Given the description of an element on the screen output the (x, y) to click on. 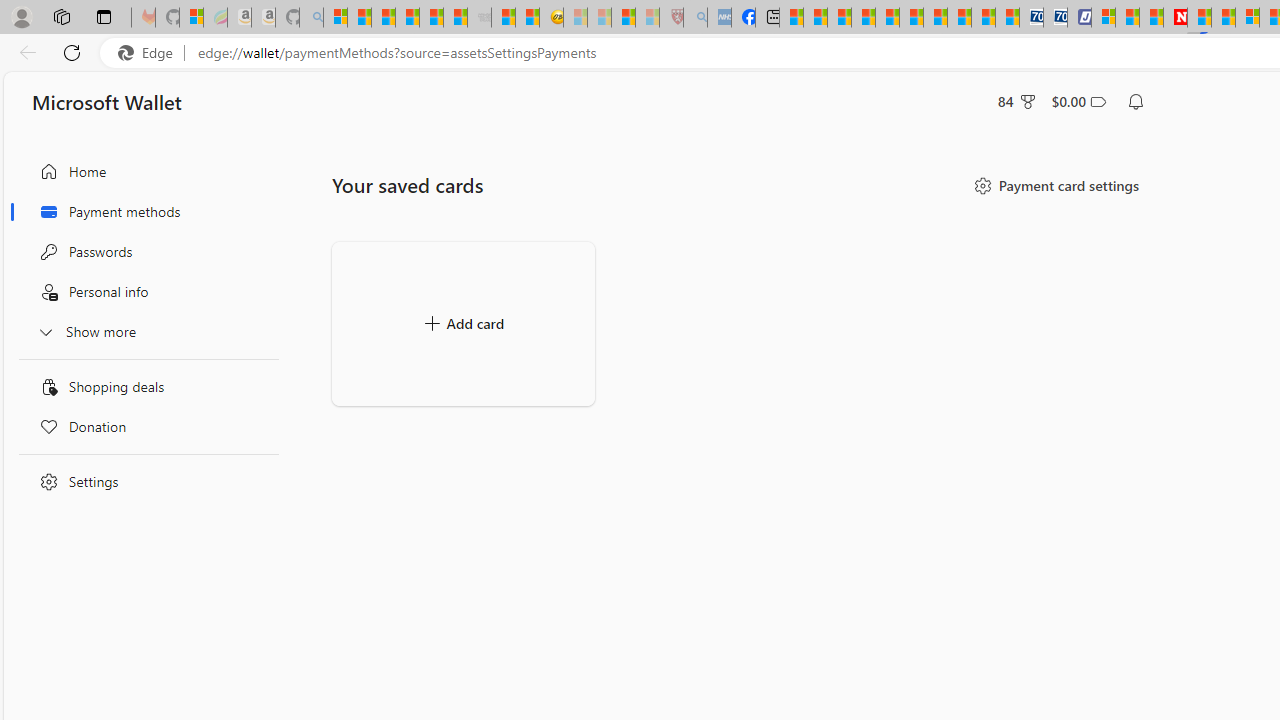
Edge (150, 53)
